Given the description of an element on the screen output the (x, y) to click on. 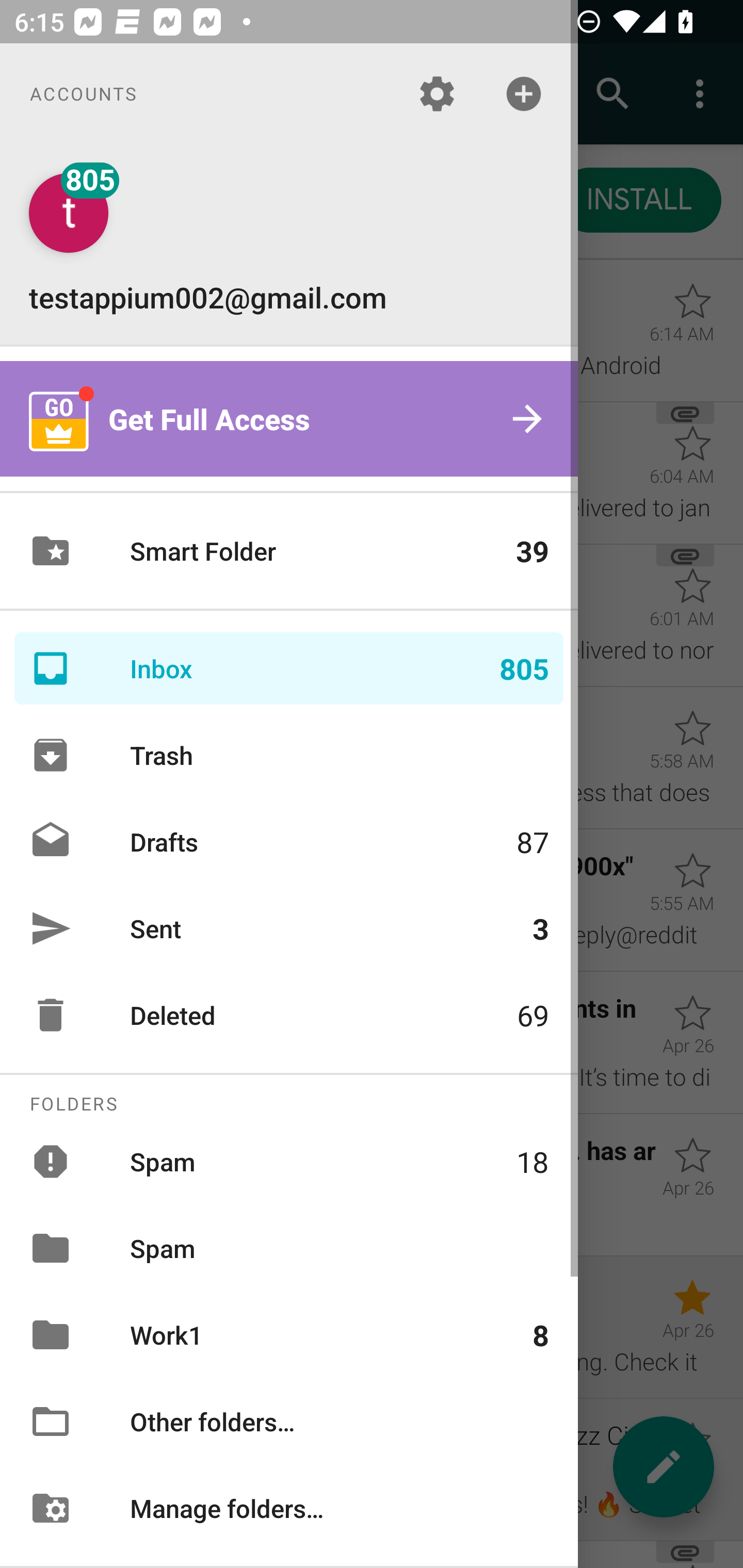
testappium002@gmail.com (289, 244)
Get Full Access (289, 418)
Smart Folder 39 (289, 551)
Inbox 805 (289, 668)
Trash (289, 754)
Drafts 87 (289, 841)
Sent 3 (289, 928)
Deleted 69 (289, 1015)
Spam 18 (289, 1160)
Spam (289, 1248)
Work1 8 (289, 1335)
Other folders… (289, 1421)
Manage folders… (289, 1507)
